Given the description of an element on the screen output the (x, y) to click on. 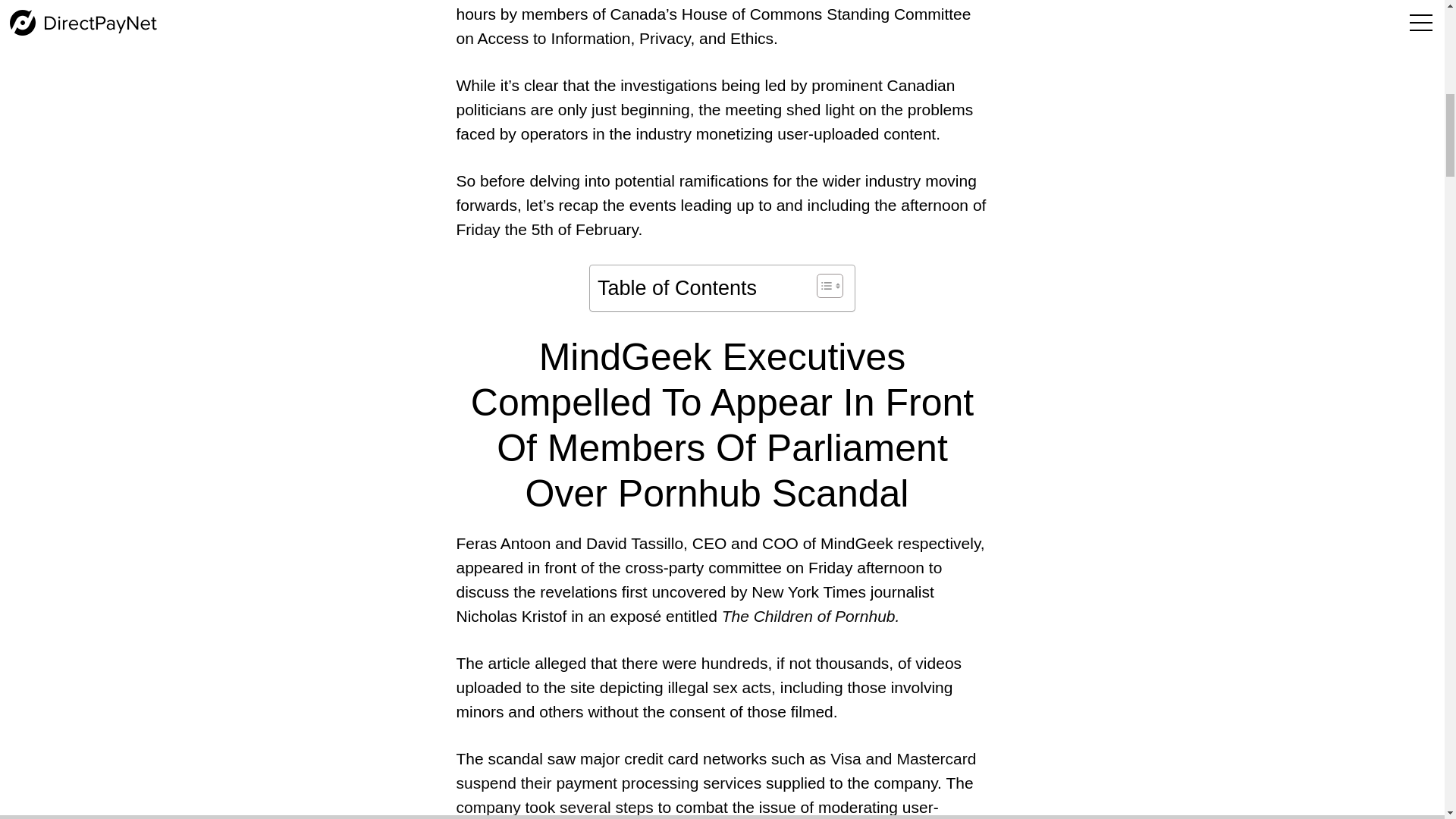
The Children of Pornhub (808, 615)
company took several steps (553, 806)
